Given the description of an element on the screen output the (x, y) to click on. 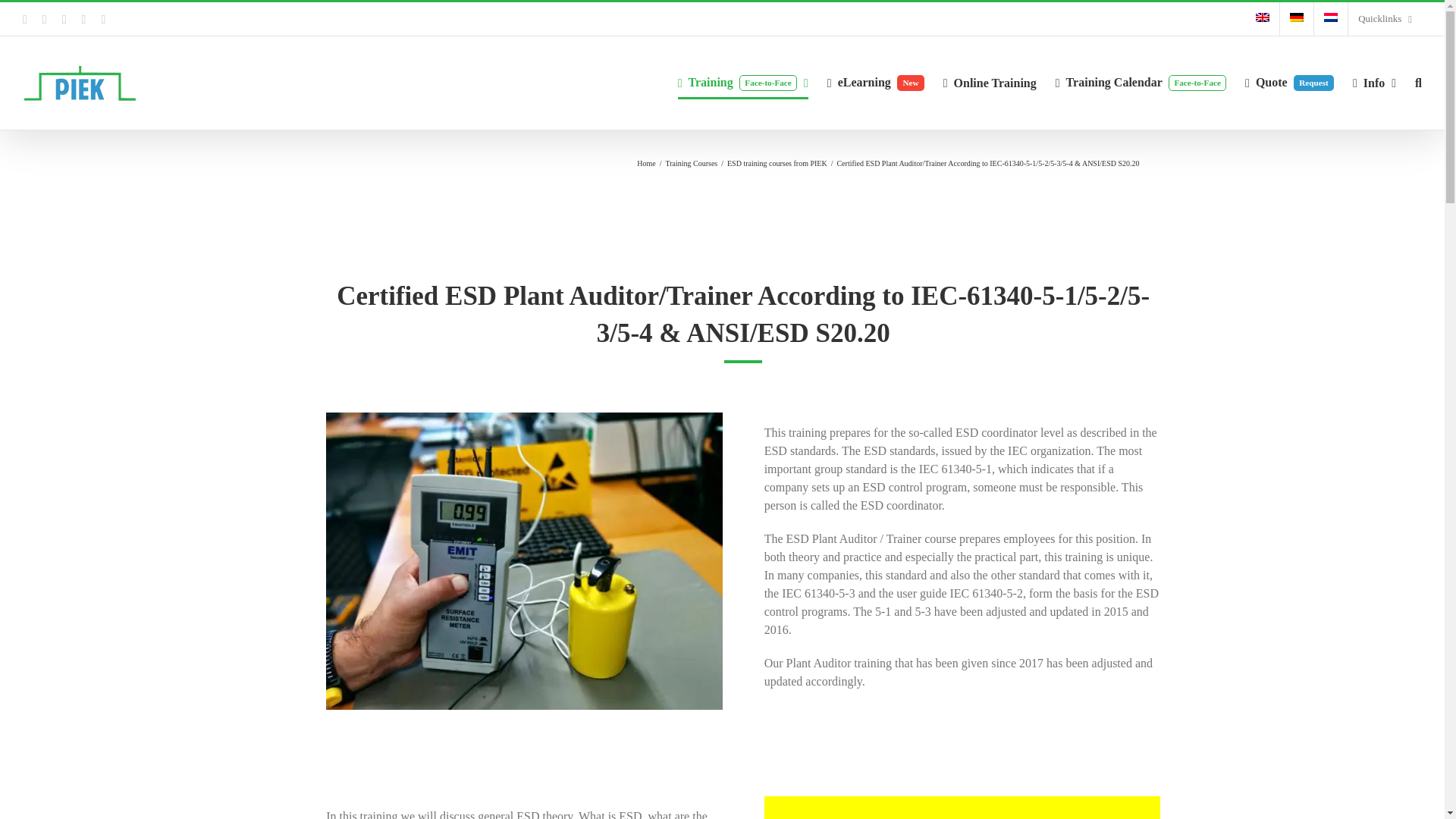
YouTube (25, 19)
eLearning (875, 82)
Online Training (989, 82)
Flickr (102, 19)
LinkedIn (83, 19)
LinkedIn (83, 19)
Face-to-Face Training (875, 82)
Quote Request Form (743, 82)
Online Training (1288, 82)
Flickr (989, 82)
X (743, 82)
Facebook (102, 19)
X (44, 19)
